Given the description of an element on the screen output the (x, y) to click on. 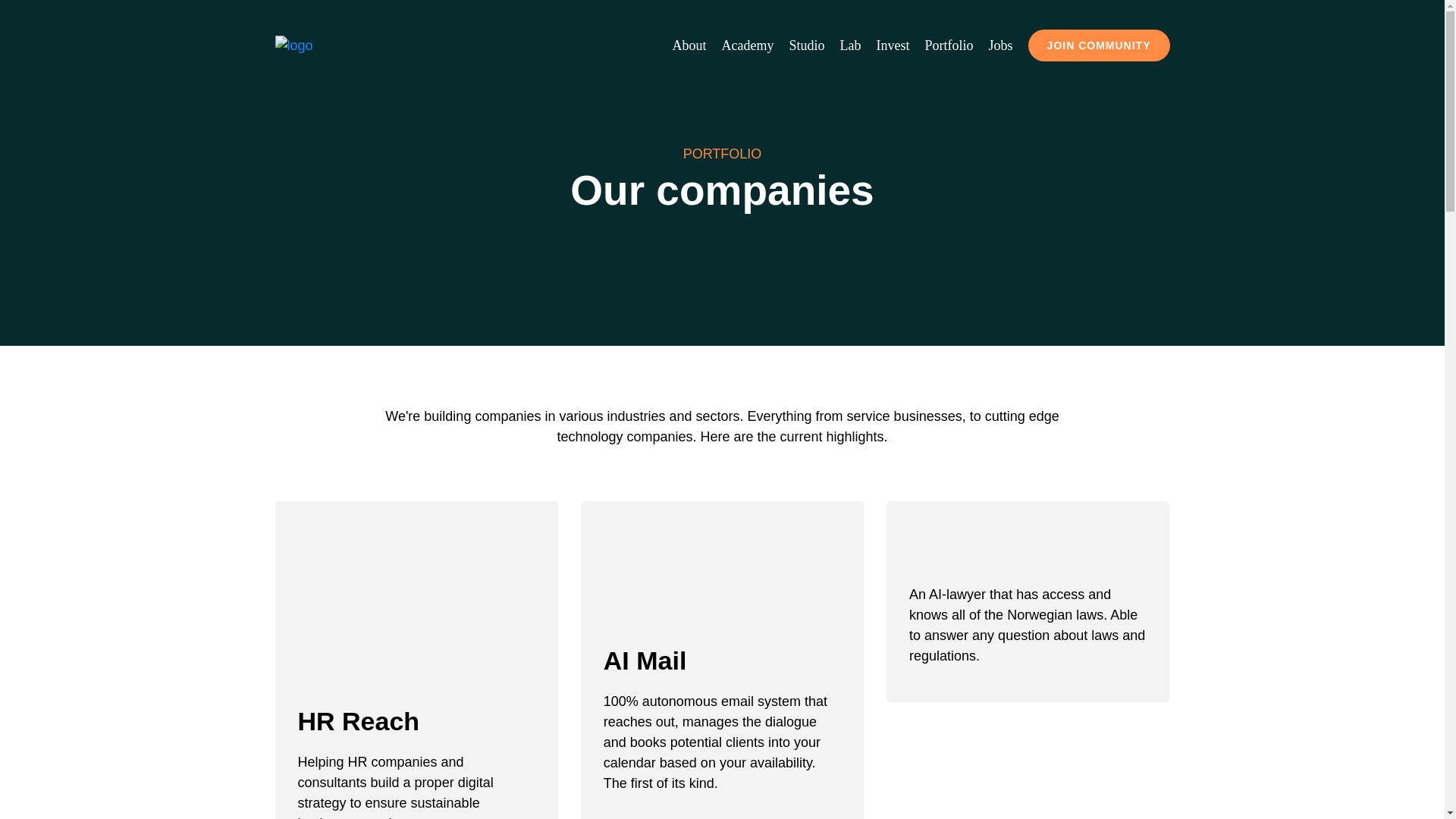
Jobs (1000, 45)
Lab (850, 45)
Studio (807, 45)
Portfolio (949, 45)
Invest (893, 45)
JOIN COMMUNITY (1098, 45)
About (689, 45)
Academy (748, 45)
